Given the description of an element on the screen output the (x, y) to click on. 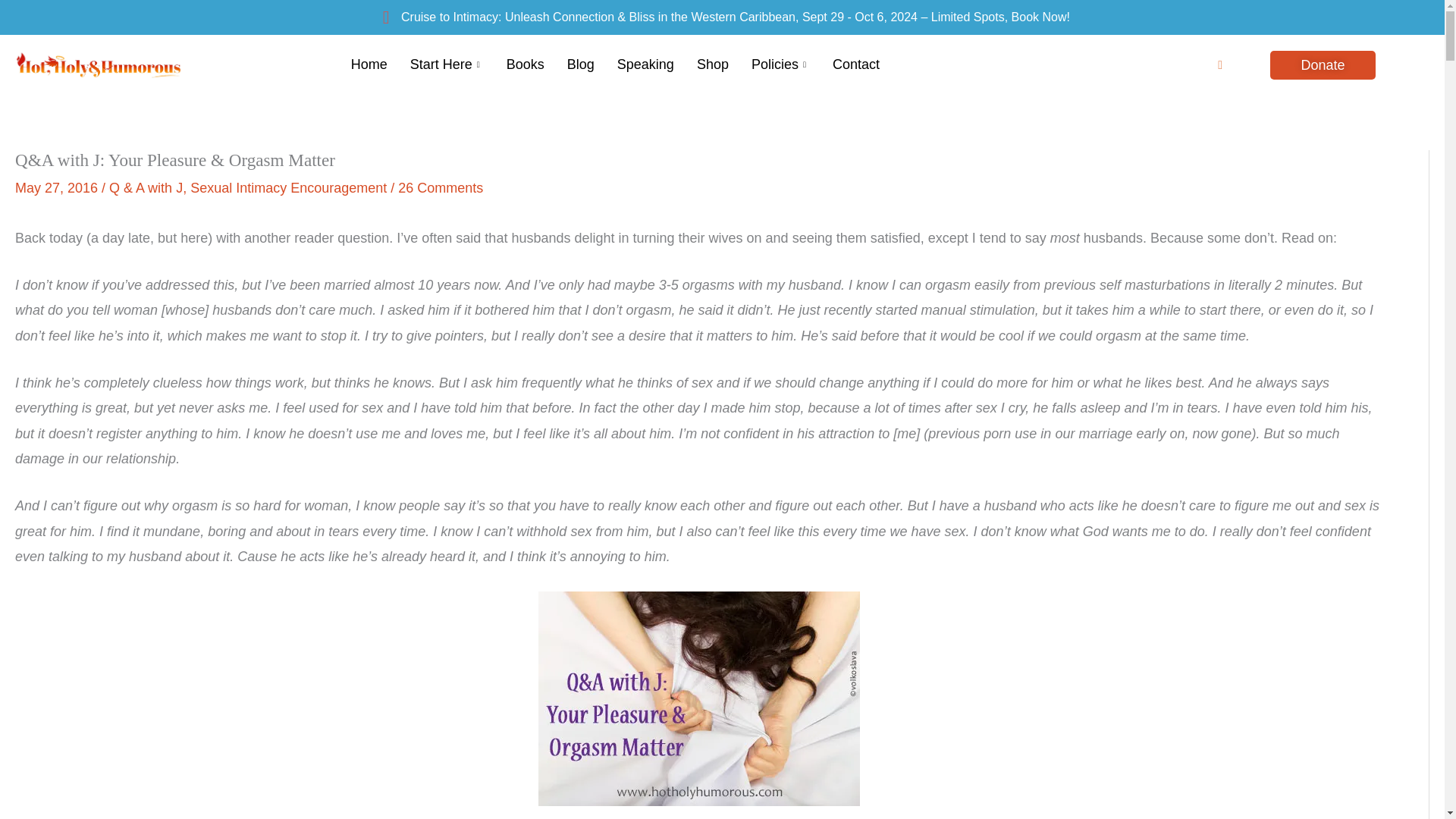
Sexual Intimacy Encouragement (288, 187)
Shop (712, 65)
Books (525, 65)
Speaking (645, 65)
Policies (780, 65)
Start Here (446, 65)
Contact (856, 65)
26 Comments (440, 187)
Donate (1321, 64)
Home (368, 65)
